Given the description of an element on the screen output the (x, y) to click on. 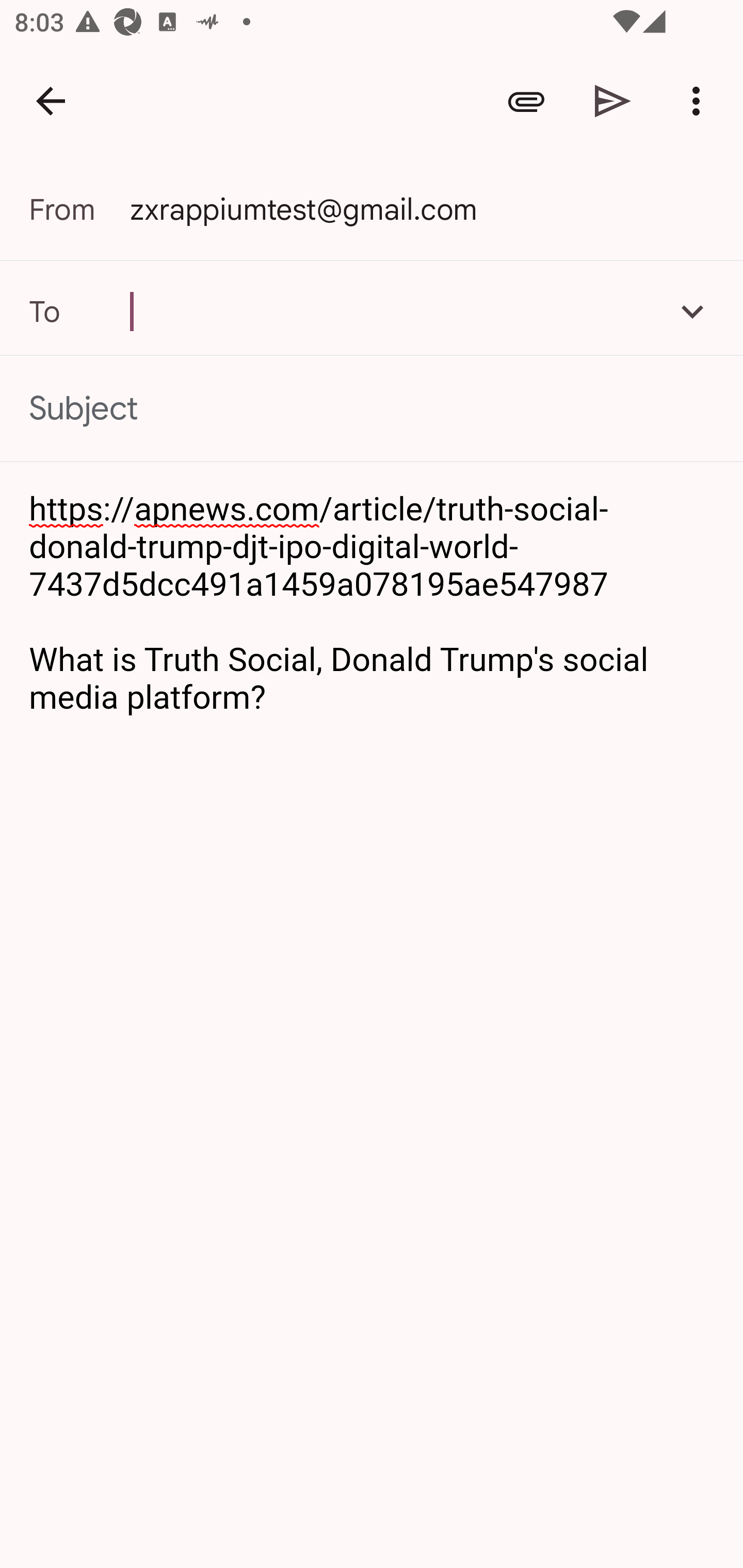
Navigate up (50, 101)
Attach file (525, 101)
Send (612, 101)
More options (699, 101)
From (79, 209)
Add Cc/Bcc (692, 311)
Subject (371, 407)
